Given the description of an element on the screen output the (x, y) to click on. 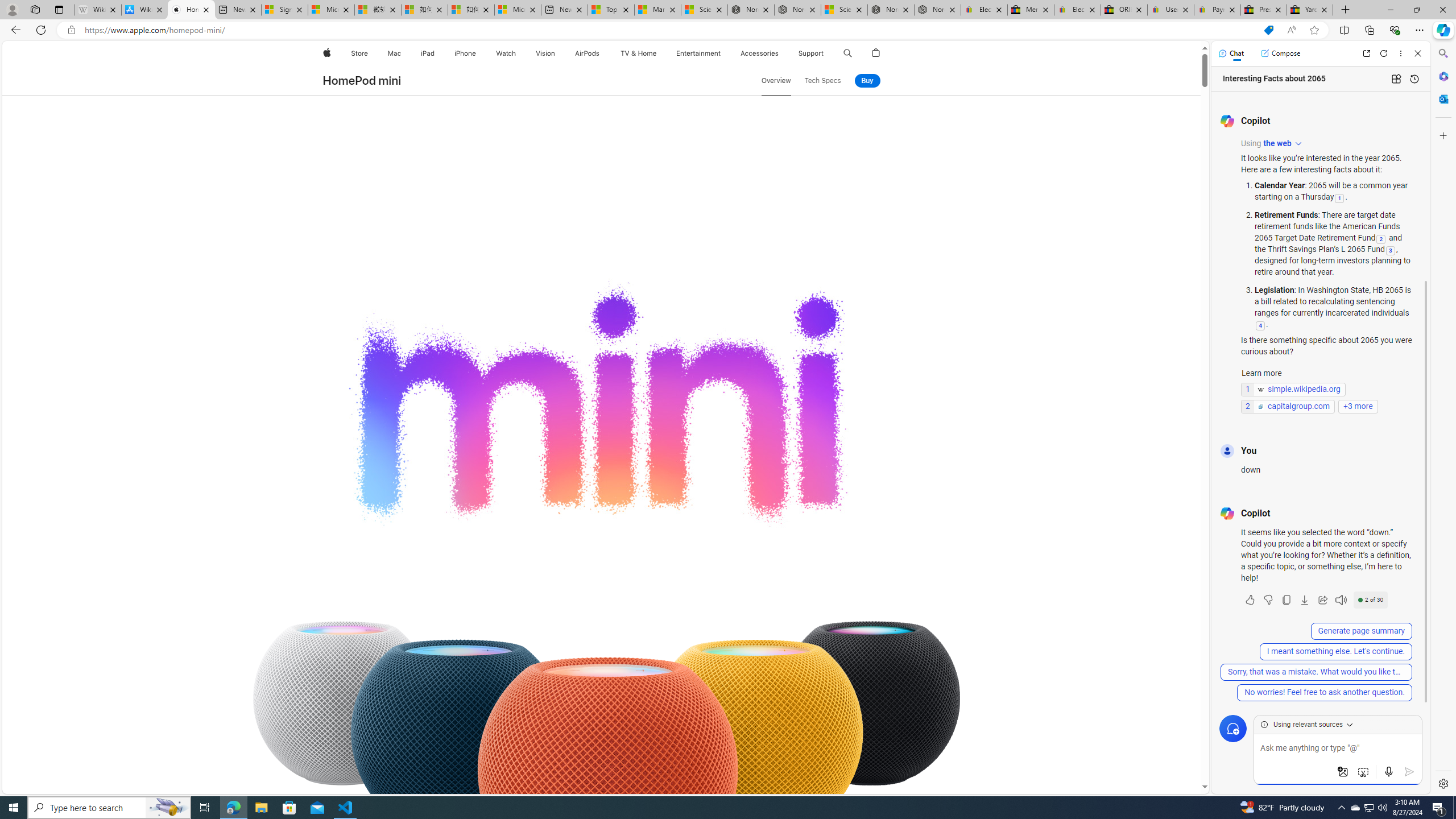
Entertainment menu (722, 53)
Mac (394, 53)
Accessories (759, 53)
Support (810, 53)
Watch menu (518, 53)
iPad (427, 53)
